Given the description of an element on the screen output the (x, y) to click on. 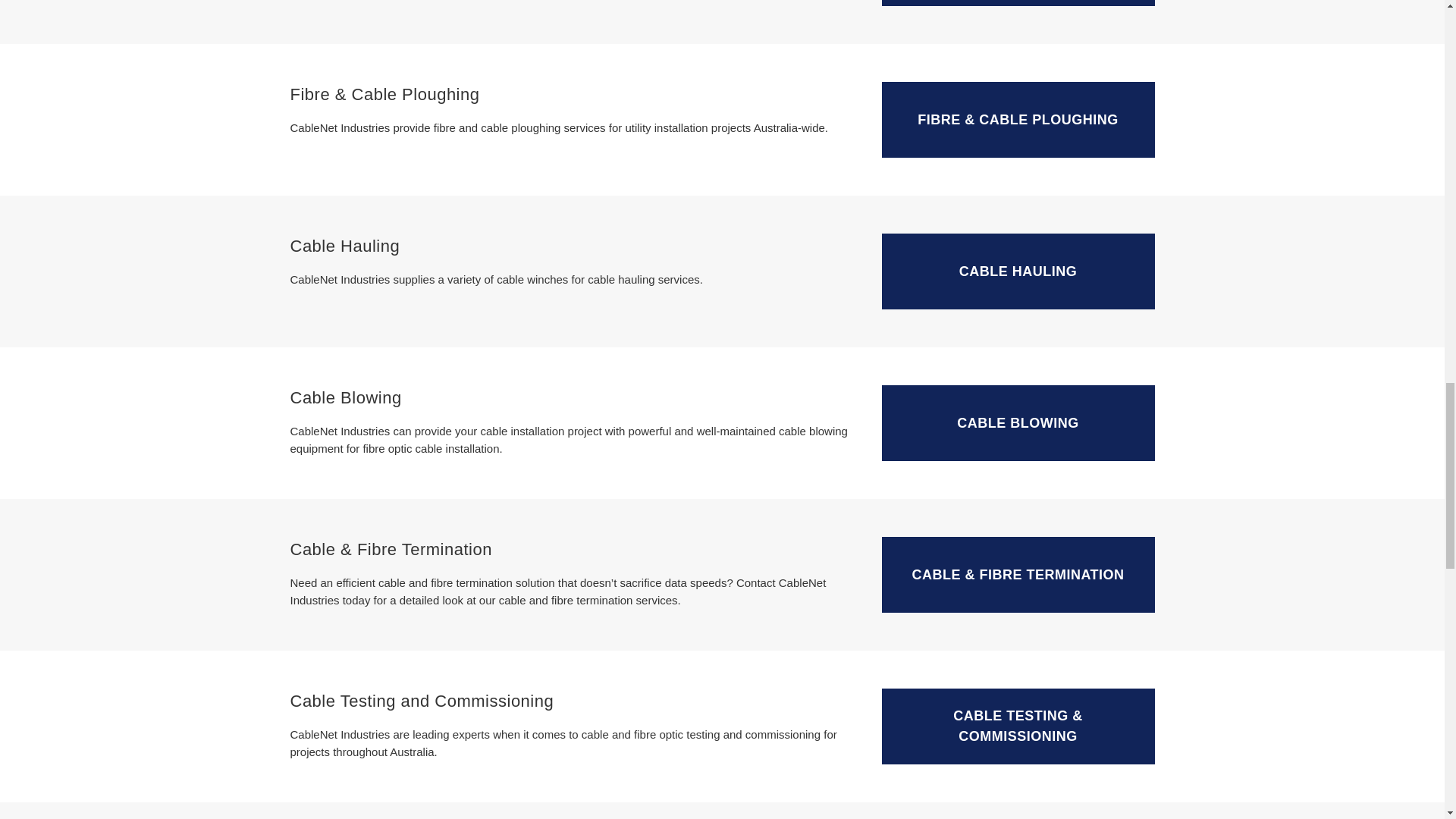
CABLE BLOWING (1017, 422)
CABLE HAULING (1017, 271)
UNDERBORING (1017, 2)
